Given the description of an element on the screen output the (x, y) to click on. 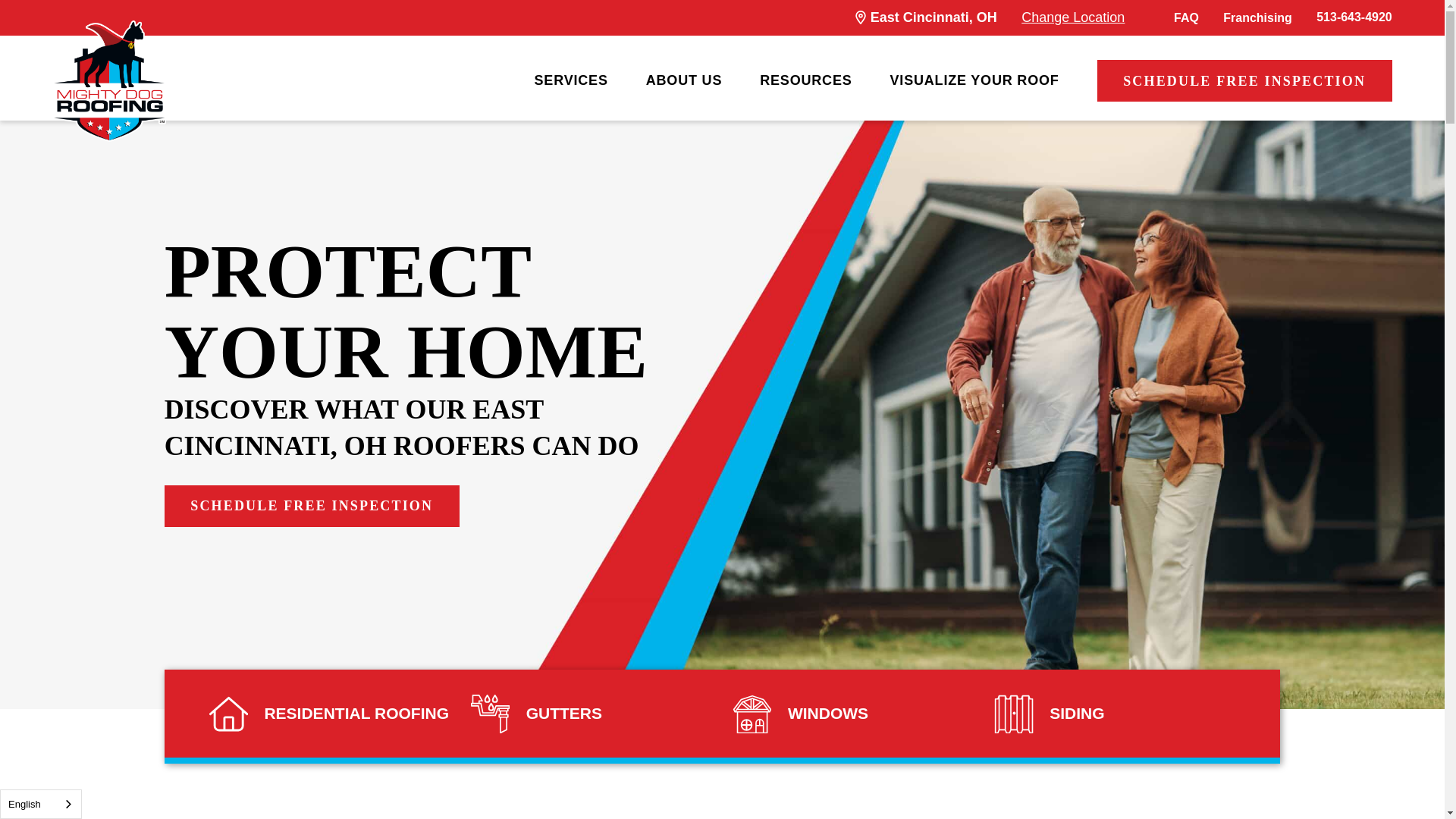
East Cincinnati, OH (933, 16)
ABOUT US (684, 80)
VISUALIZE YOUR ROOF (974, 80)
513-643-4920 (1353, 17)
Change Location (1073, 16)
SERVICES (571, 80)
Mighty Dog Roofing of East Cincinnati, OH (108, 80)
RESOURCES (805, 80)
Franchising (1257, 17)
FAQ (1185, 17)
